Given the description of an element on the screen output the (x, y) to click on. 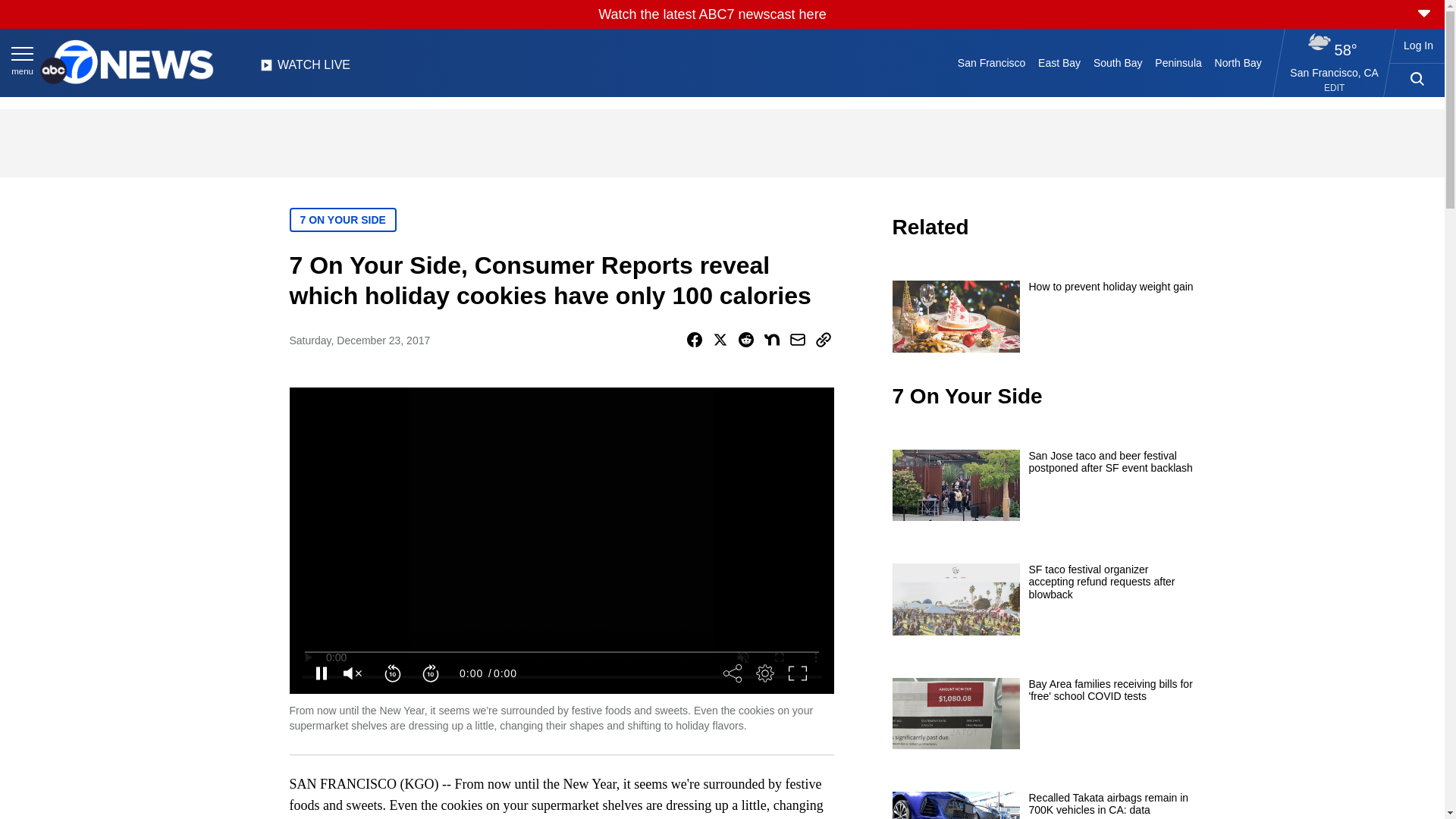
WATCH LIVE (305, 69)
San Francisco, CA (1334, 72)
South Bay (1117, 62)
North Bay (1238, 62)
EDIT (1333, 87)
Peninsula (1178, 62)
San Francisco (990, 62)
East Bay (1059, 62)
